Given the description of an element on the screen output the (x, y) to click on. 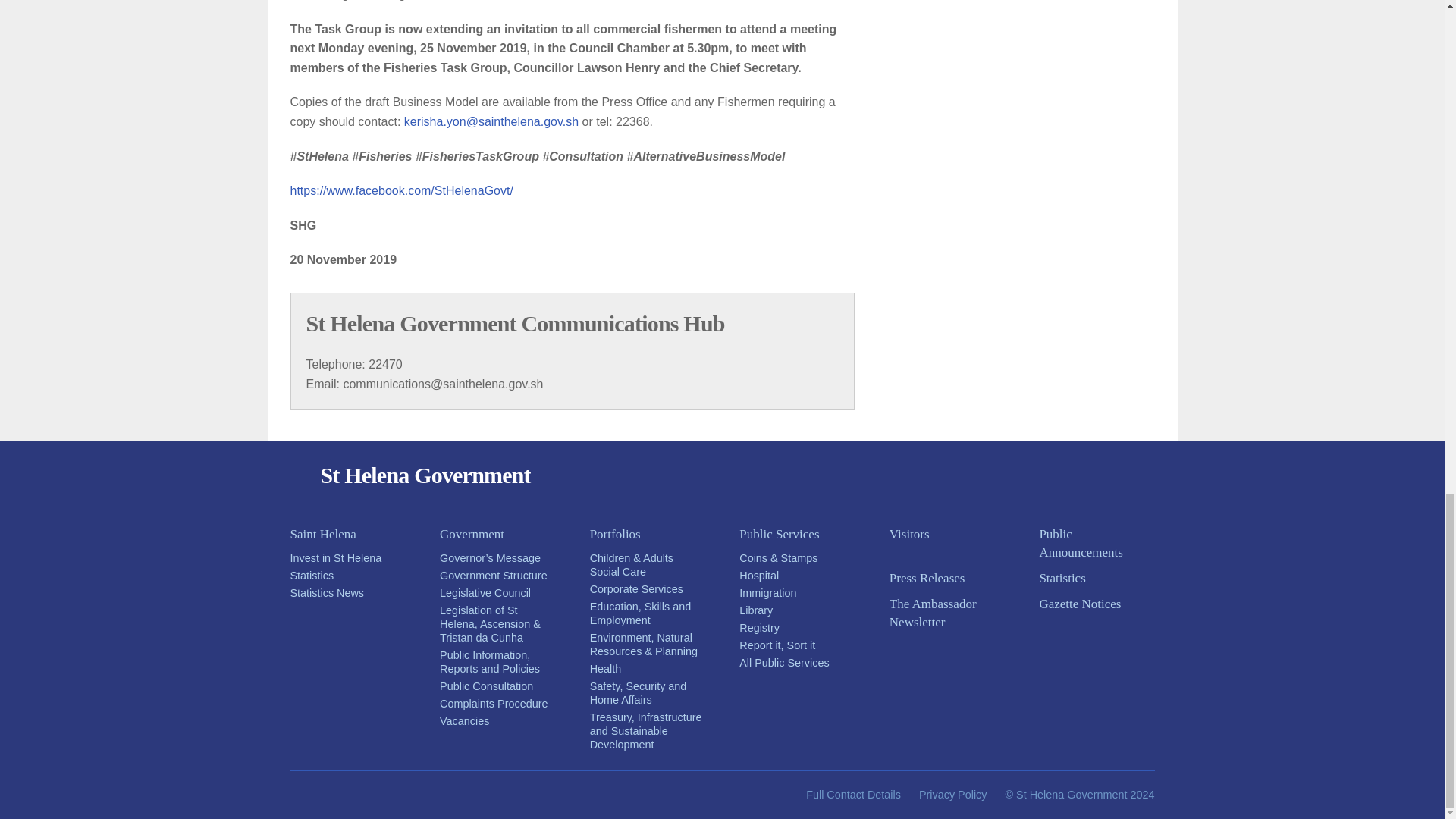
Information for visitors (946, 534)
Information for investors (335, 558)
